Given the description of an element on the screen output the (x, y) to click on. 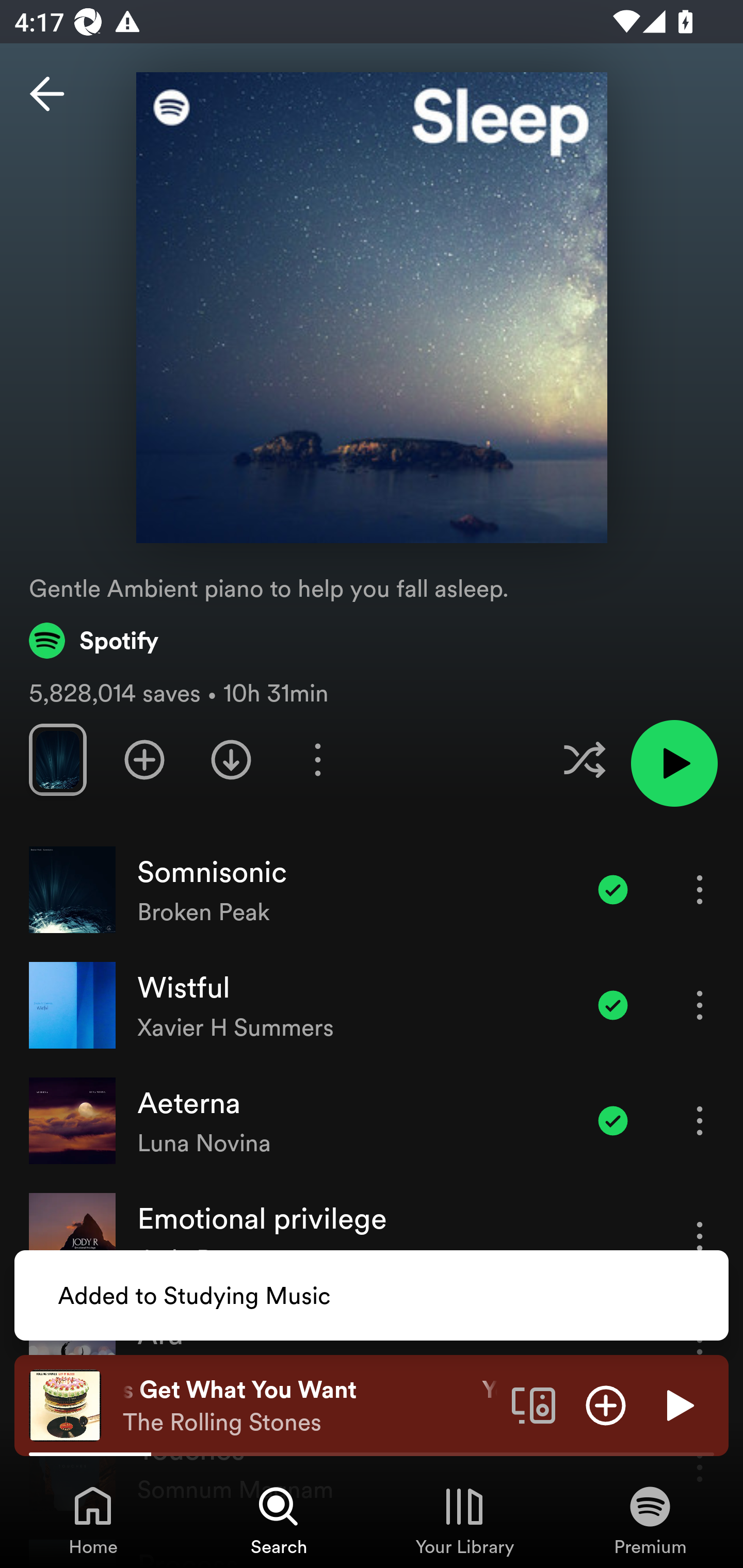
Back (46, 93)
Spotify (93, 640)
Swipe through previews of tracks in this playlist. (57, 759)
Add playlist to Your Library (144, 759)
Download (230, 759)
More options for playlist Sleep (317, 759)
Enable shuffle for this playlist (583, 759)
Play playlist (674, 763)
Item added (612, 889)
More options for song Somnisonic (699, 889)
Item added (612, 1004)
More options for song Wistful (699, 1004)
Item added (612, 1120)
More options for song Aeterna (699, 1120)
More options for song Emotional privilege (699, 1236)
The cover art of the currently playing track (64, 1404)
Connect to a device. Opens the devices menu (533, 1404)
Add item (605, 1404)
Play (677, 1404)
Home, Tab 1 of 4 Home Home (92, 1519)
Search, Tab 2 of 4 Search Search (278, 1519)
Your Library, Tab 3 of 4 Your Library Your Library (464, 1519)
Premium, Tab 4 of 4 Premium Premium (650, 1519)
